Given the description of an element on the screen output the (x, y) to click on. 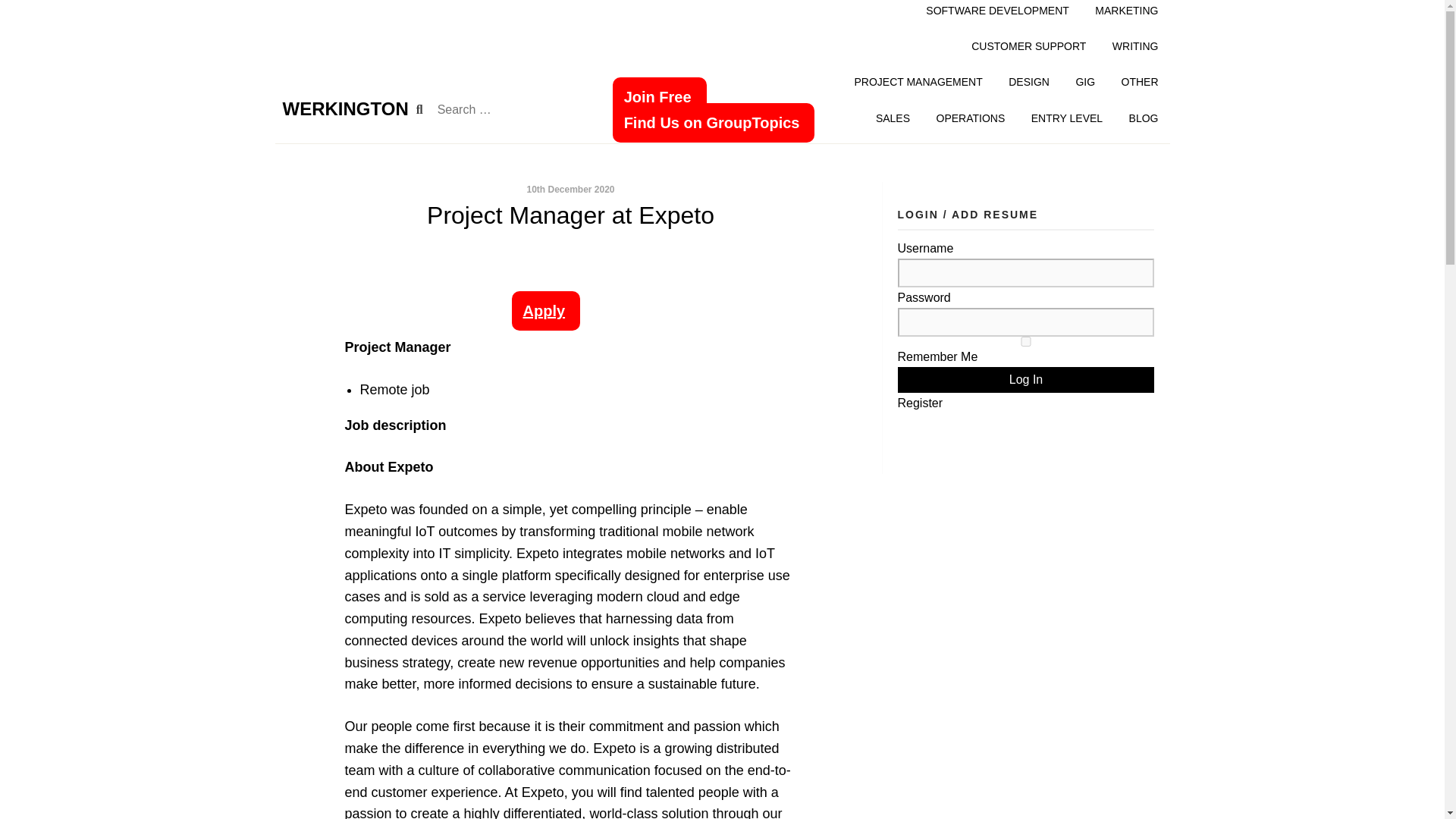
OPERATIONS (970, 118)
Apply (545, 310)
GIG (1084, 81)
WRITING (1135, 46)
OTHER (1139, 81)
BLOG (1143, 118)
ENTRY LEVEL (1066, 118)
Log In (1026, 379)
SALES (893, 118)
Find Us on GroupTopics (713, 122)
